Given the description of an element on the screen output the (x, y) to click on. 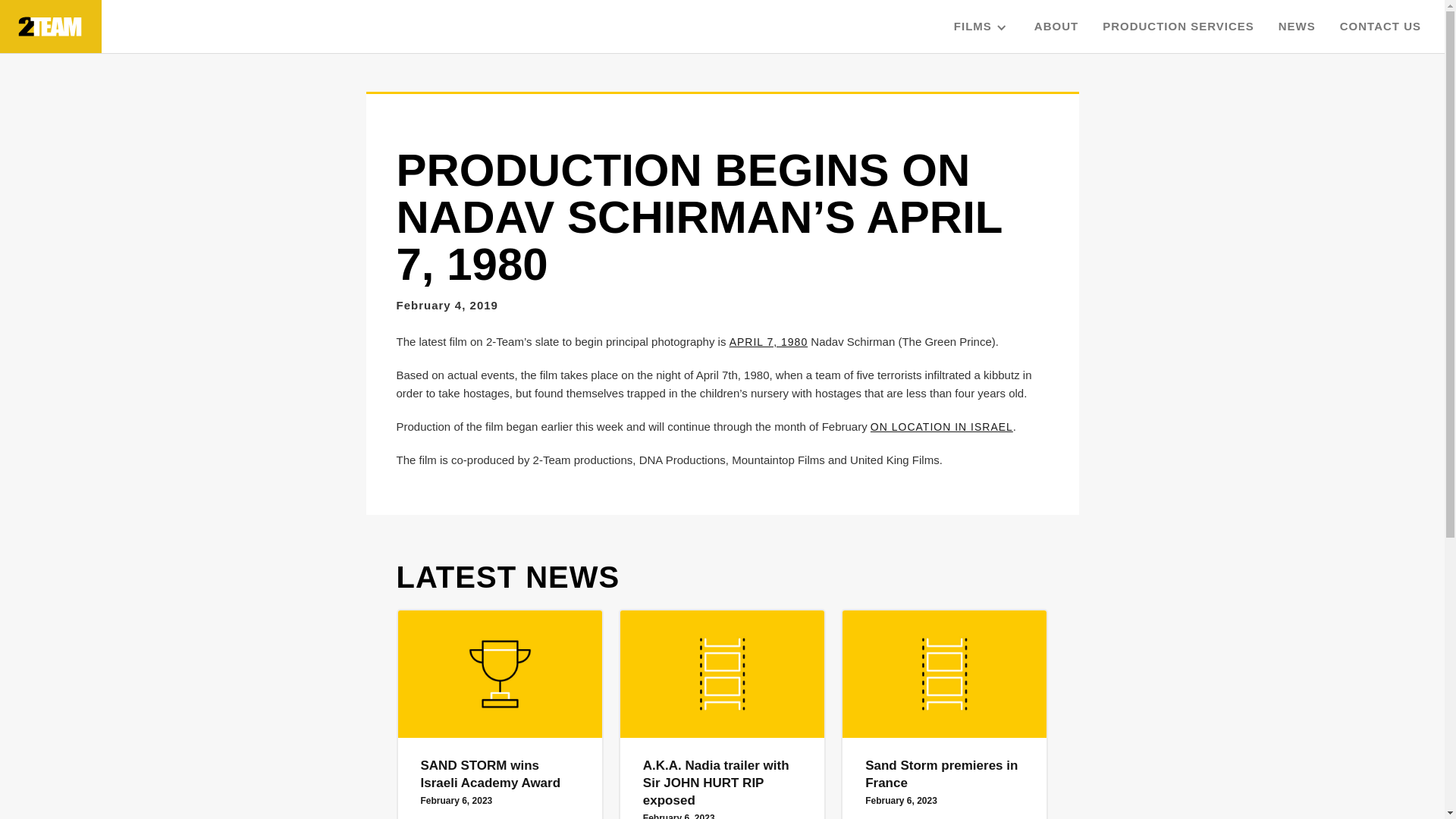
Sand Storm premieres in France Element type: text (944, 777)
NEWS Element type: text (1296, 26)
APRIL 7, 1980 Element type: text (768, 341)
PRODUCTION SERVICES Element type: text (1178, 26)
A.K.A. Nadia trailer with Sir JOHN HURT RIP exposed Element type: text (722, 786)
SAND STORM wins Israeli Academy Award Element type: text (499, 777)
ON LOCATION IN ISRAEL Element type: text (941, 426)
ABOUT Element type: text (1056, 26)
CONTACT US Element type: text (1380, 26)
